Given the description of an element on the screen output the (x, y) to click on. 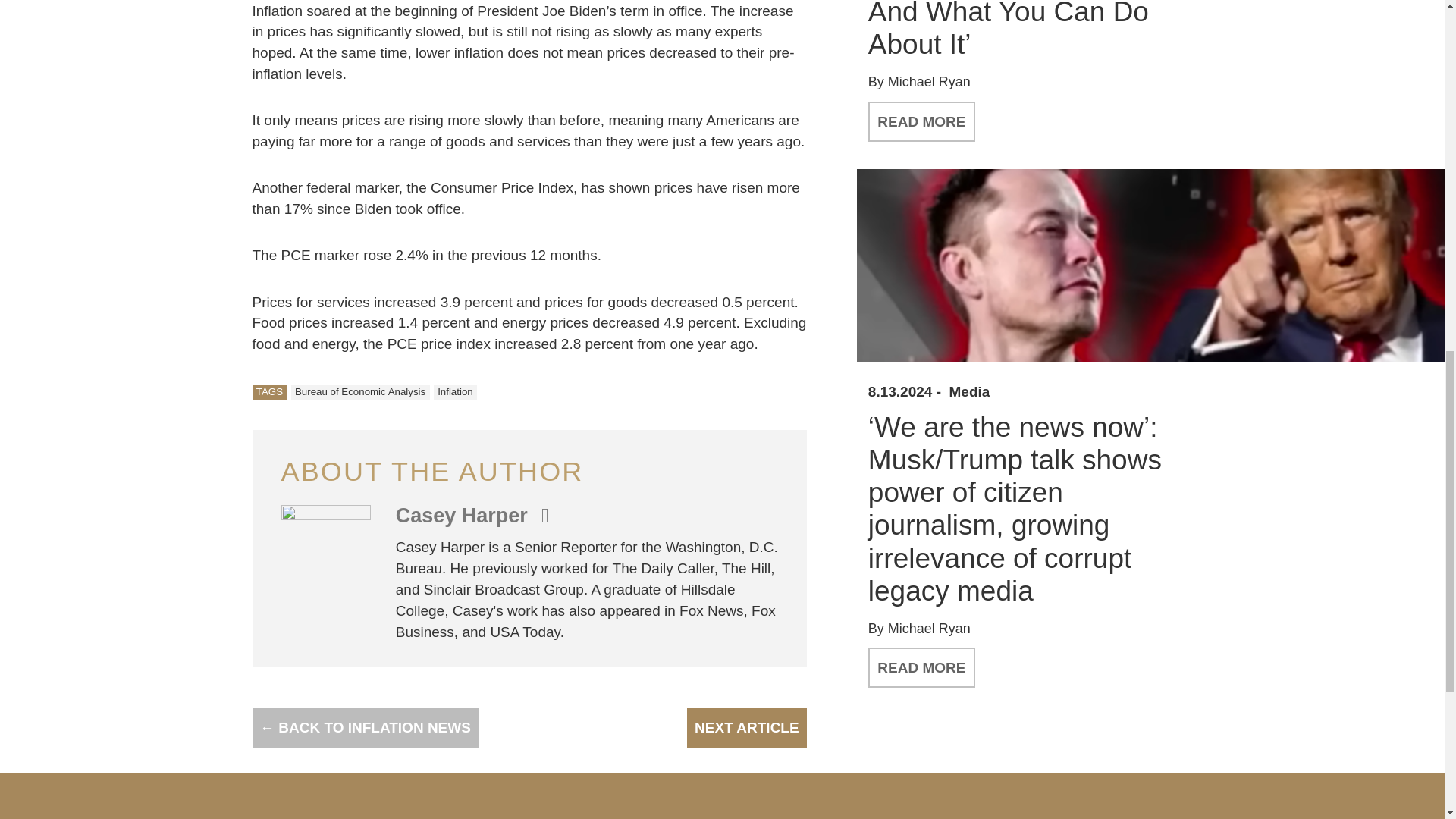
Bureau of Economic Analysis (360, 392)
Media (969, 392)
READ MORE (921, 121)
READ MORE (921, 667)
Inflation (455, 392)
Michael Ryan (929, 628)
NEXT ARTICLE (746, 727)
Michael Ryan (929, 81)
Casey Harper (465, 515)
